Given the description of an element on the screen output the (x, y) to click on. 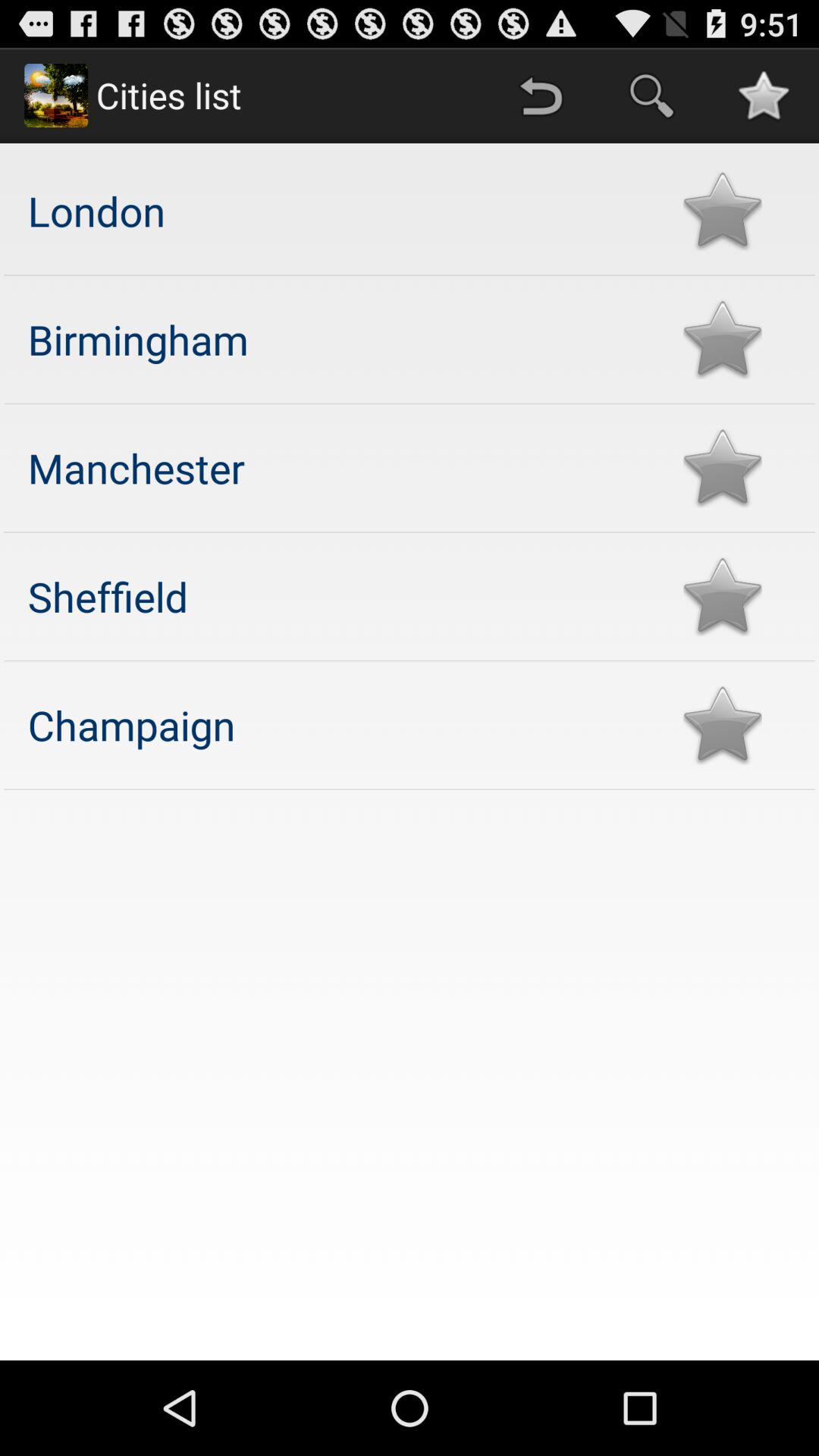
add to favorites (722, 339)
